Given the description of an element on the screen output the (x, y) to click on. 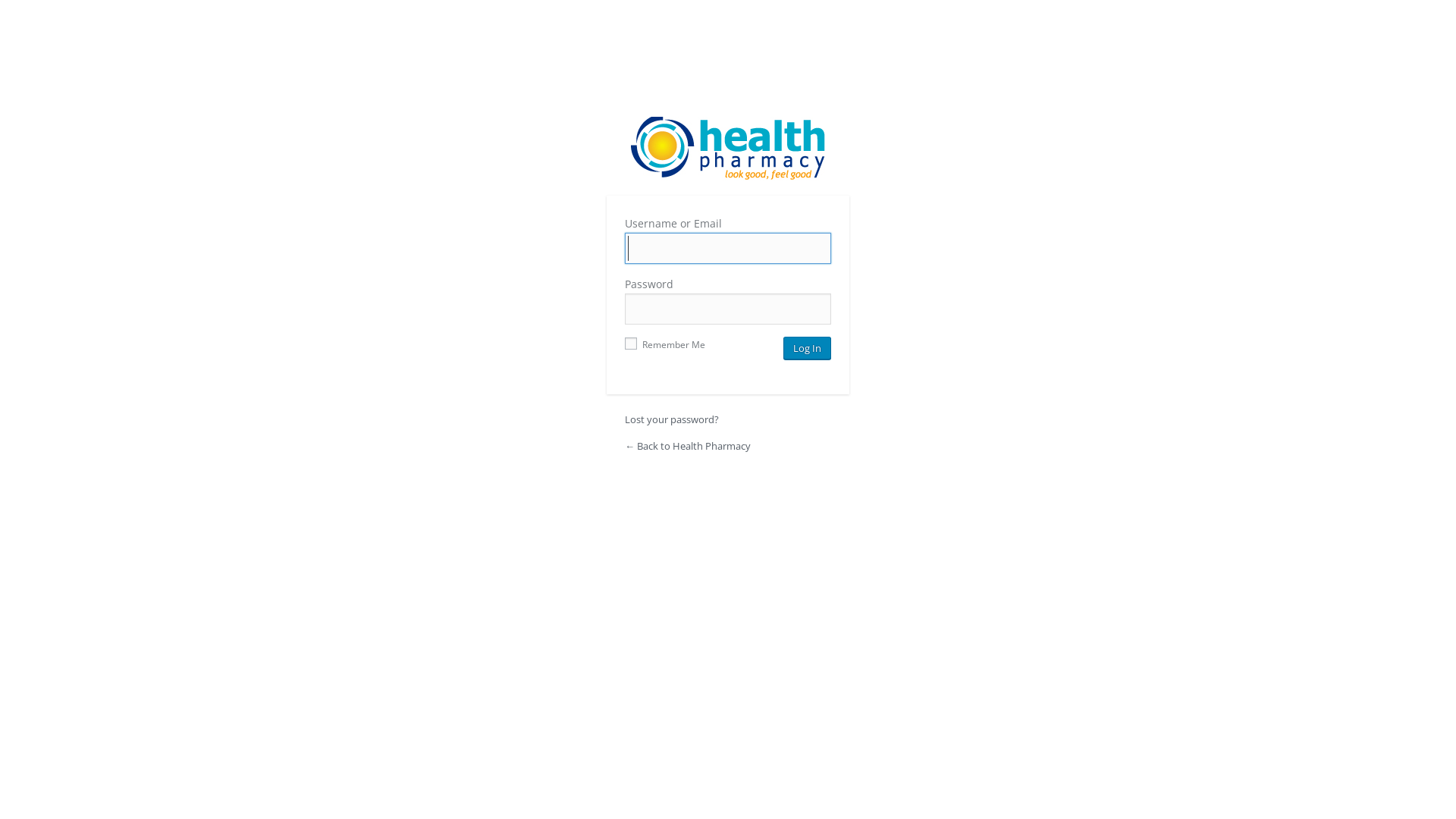
Health Pharmacy Element type: text (727, 148)
Log In Element type: text (807, 347)
Lost your password? Element type: text (671, 419)
